Given the description of an element on the screen output the (x, y) to click on. 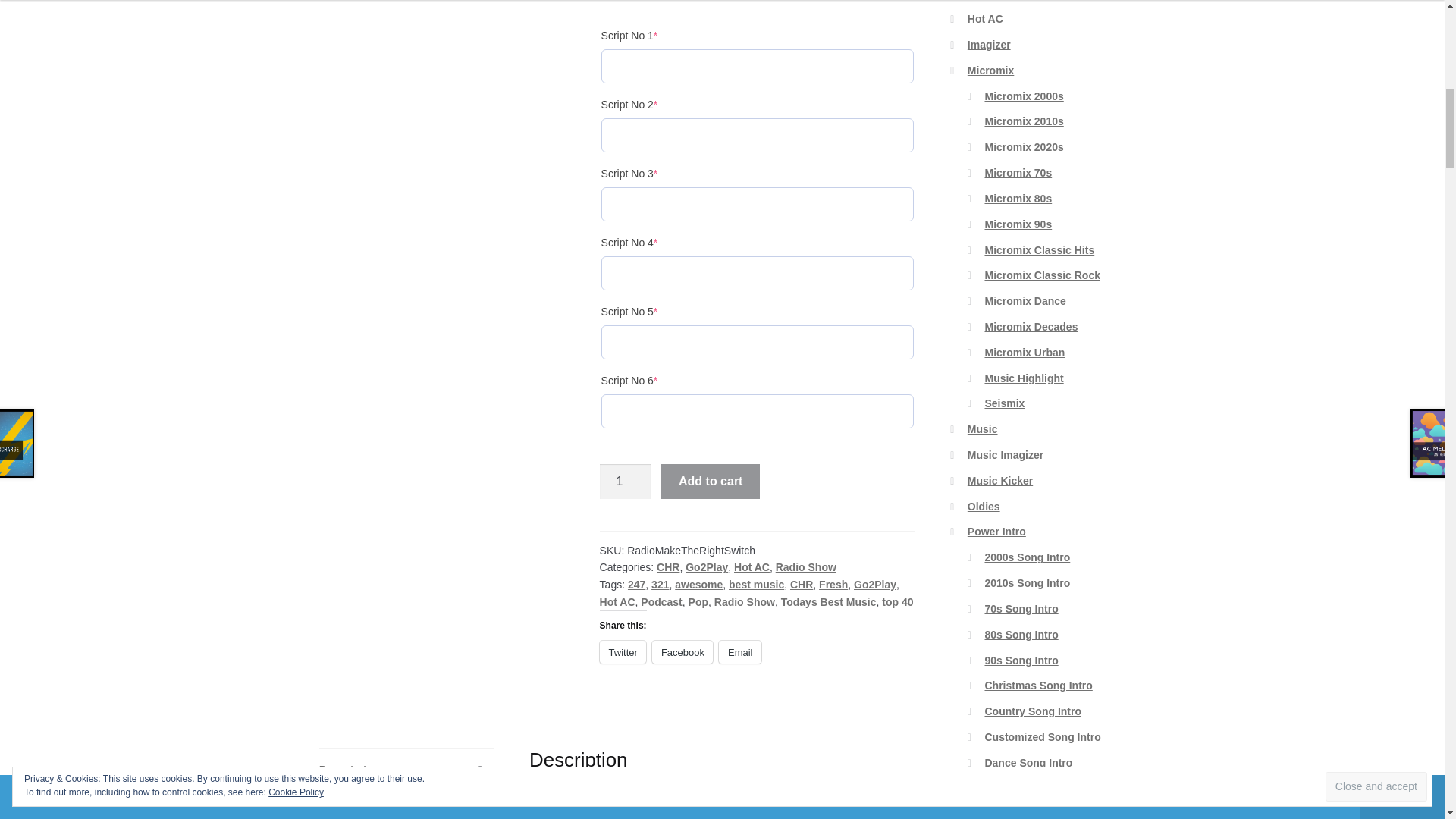
1 (624, 481)
Click to share on Twitter (622, 651)
Click to email a link to a friend (740, 651)
Click to share on Facebook (682, 651)
